Given the description of an element on the screen output the (x, y) to click on. 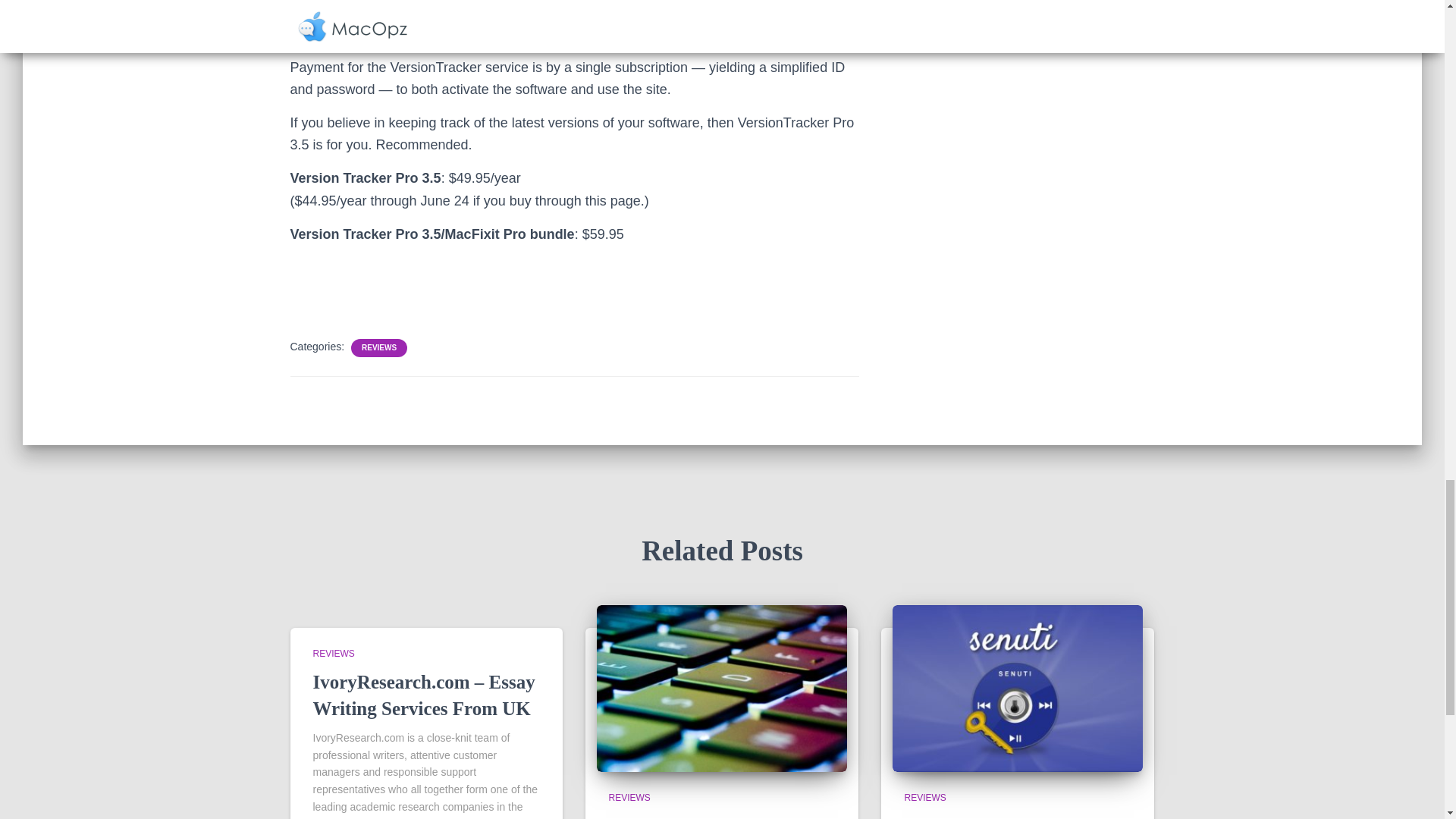
Copy Your Songs From Your iPod or iPhone with Senuti (1006, 817)
REVIEWS (924, 797)
Copy Your Songs From Your iPod or iPhone with Senuti (1017, 686)
REVIEWS (333, 653)
View all posts in Reviews (333, 653)
Copy Your Songs From Your iPod or iPhone with Senuti (1006, 817)
REVIEWS (628, 797)
REVIEWS (378, 347)
View all posts in Reviews (628, 797)
View all posts in Reviews (924, 797)
